Given the description of an element on the screen output the (x, y) to click on. 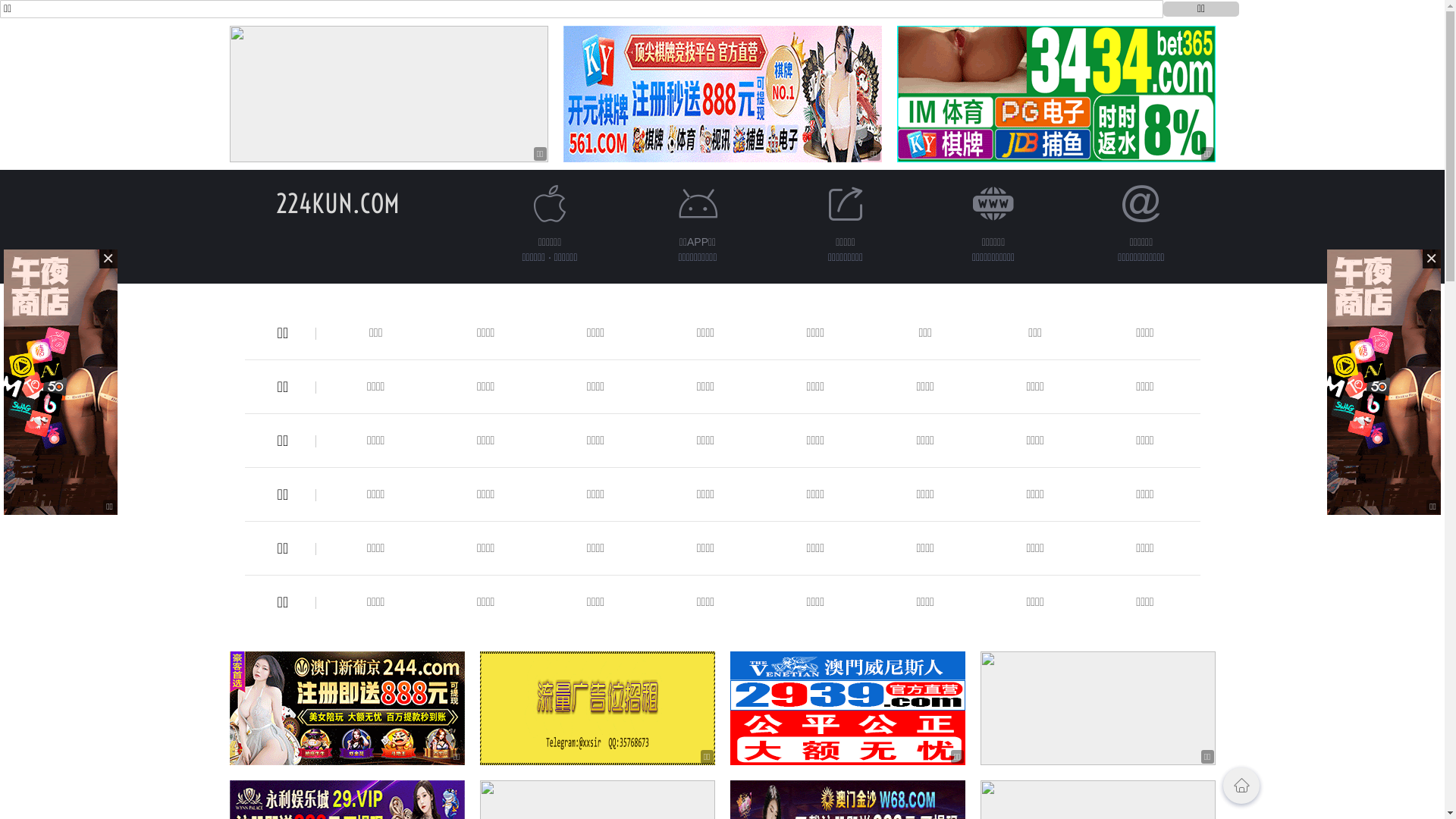
224KUN.COM Element type: text (337, 203)
